Given the description of an element on the screen output the (x, y) to click on. 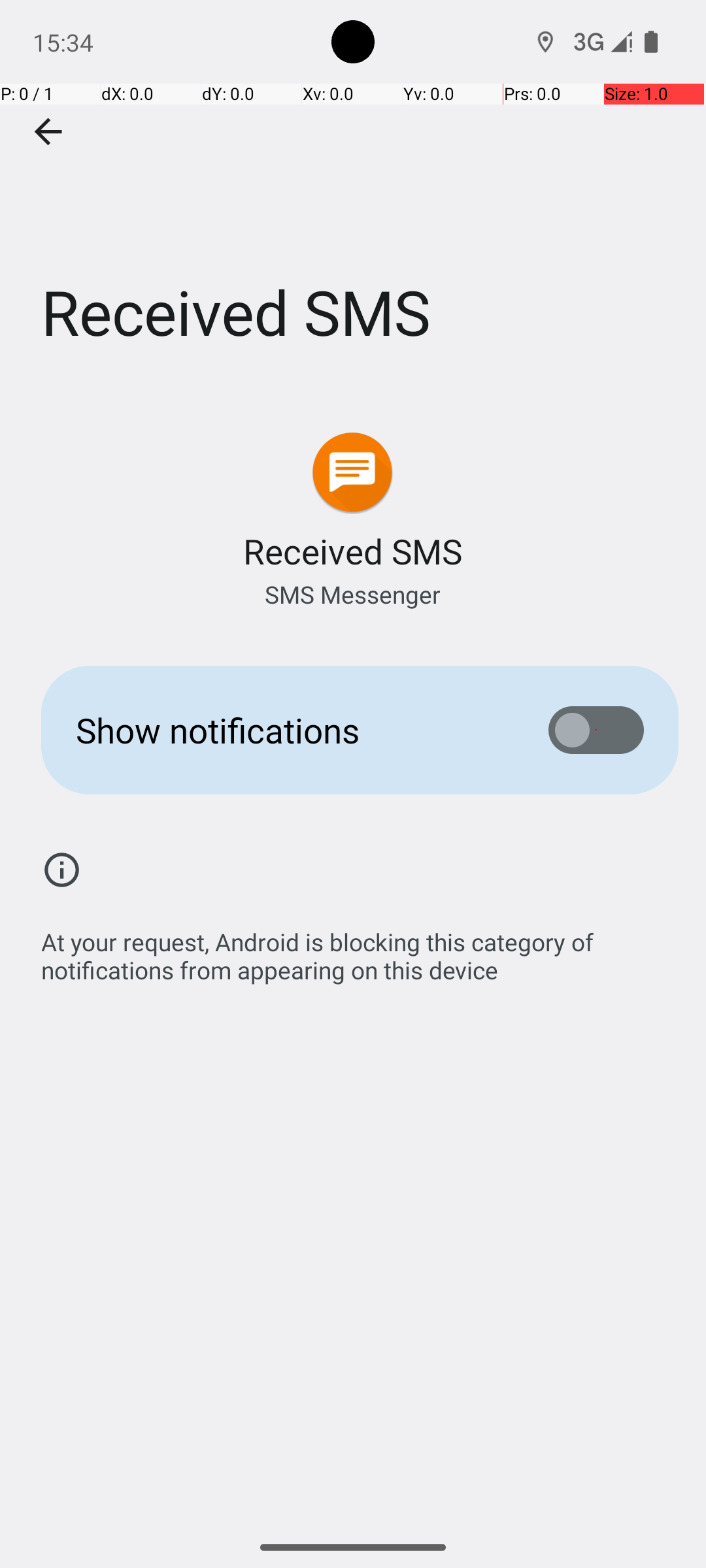
Received SMS Element type: android.widget.FrameLayout (353, 195)
Show notifications Element type: android.widget.TextView (291, 729)
At your request, Android is blocking this category of notifications from appearing on this device Element type: android.widget.TextView (359, 948)
